Given the description of an element on the screen output the (x, y) to click on. 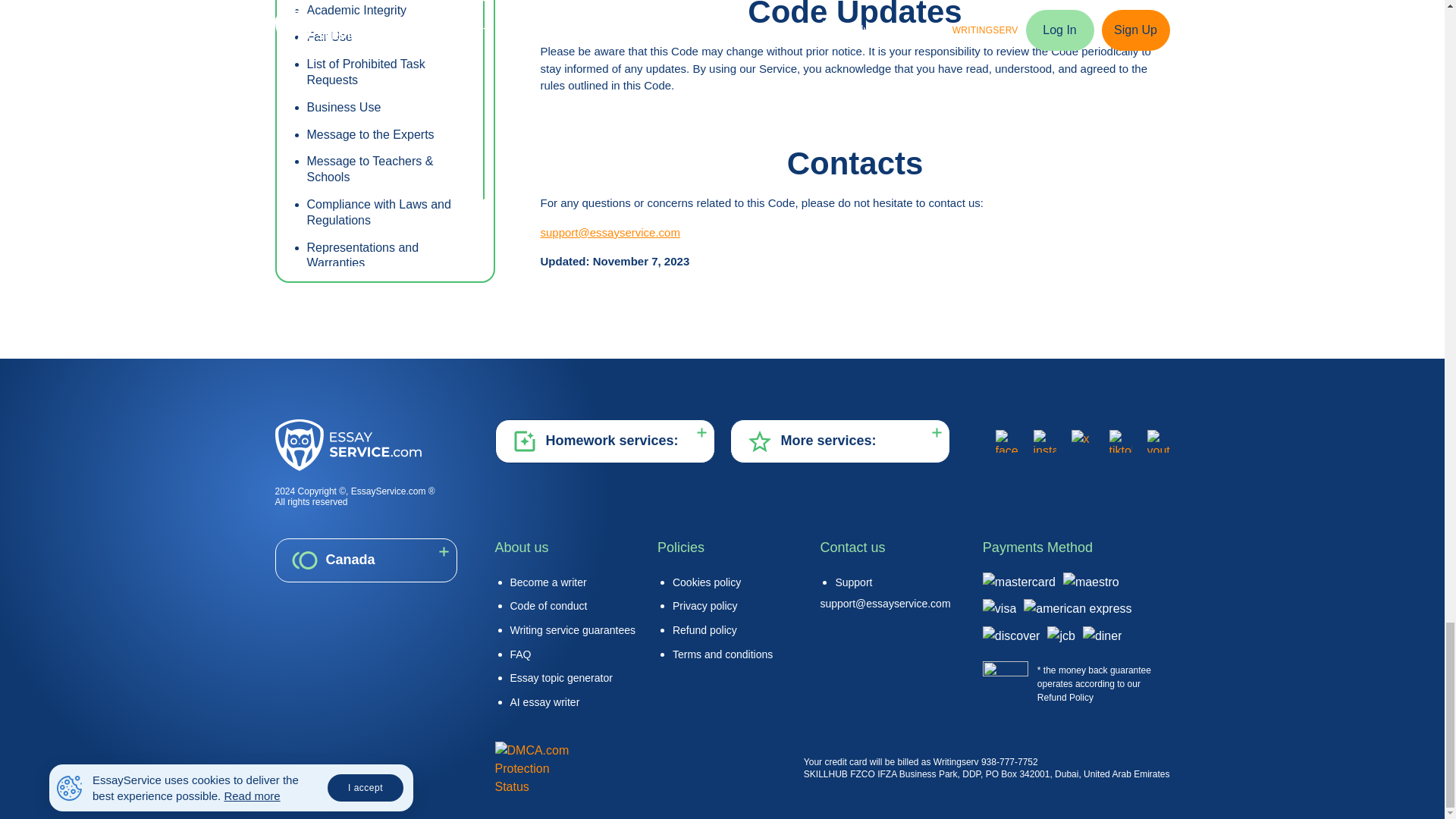
DMCA.com Protection Status (532, 768)
